Given the description of an element on the screen output the (x, y) to click on. 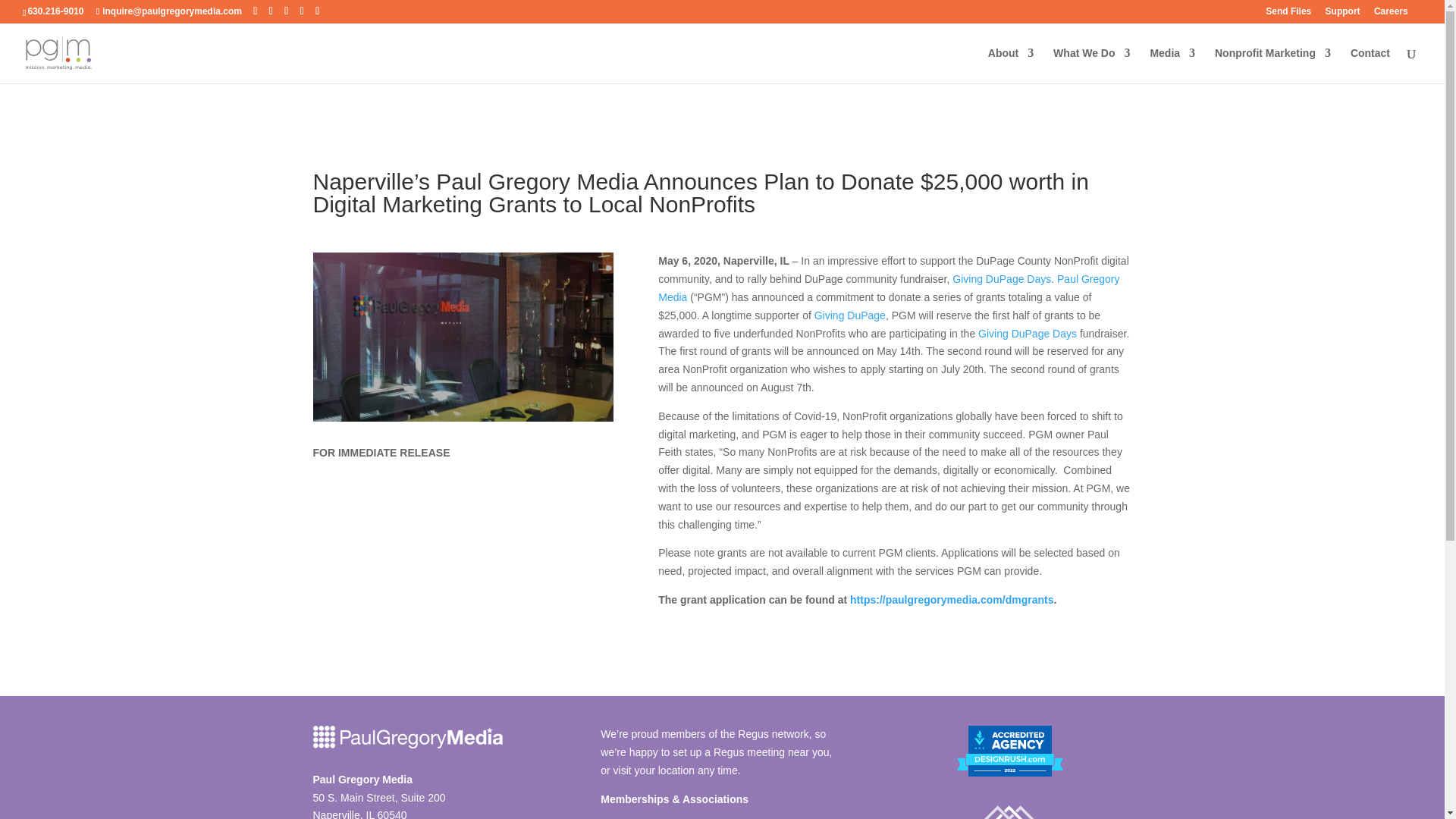
Media (1172, 65)
630.216-9010 (54, 10)
What We Do (1090, 65)
Careers (1390, 14)
Send Files (1288, 14)
Support (1341, 14)
About (1010, 65)
